Given the description of an element on the screen output the (x, y) to click on. 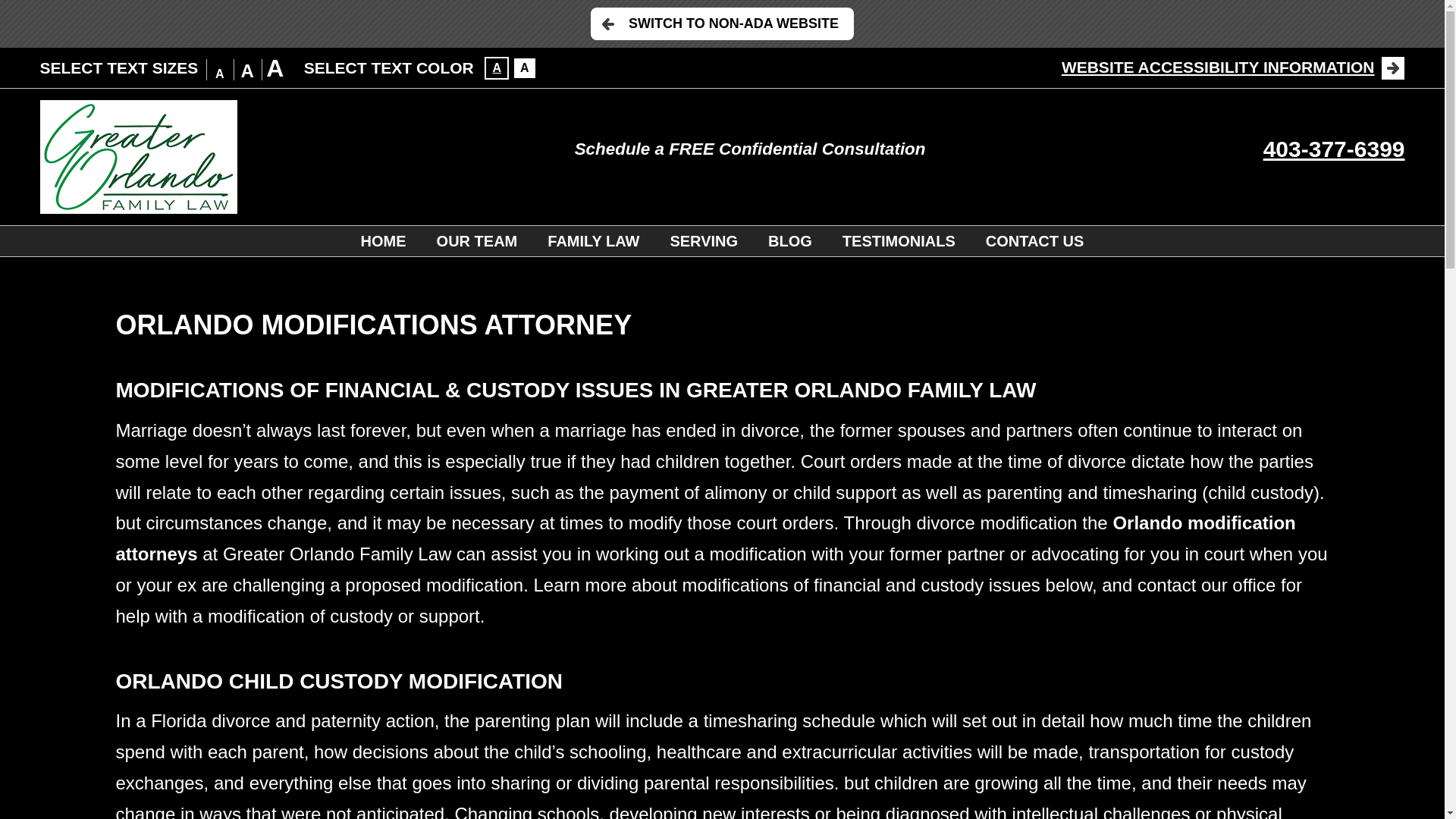
FAMILY LAW (592, 241)
Invert Colors (524, 67)
HOME (384, 241)
403-377-6399 (1334, 148)
A (524, 67)
SWITCH TO NON-ADA WEBSITE (722, 23)
OUR TEAM (477, 241)
Invert Colors (496, 67)
WEBSITE ACCESSIBILITY INFORMATION (1233, 67)
A (496, 67)
Click to view external accessibility article (1233, 67)
